Given the description of an element on the screen output the (x, y) to click on. 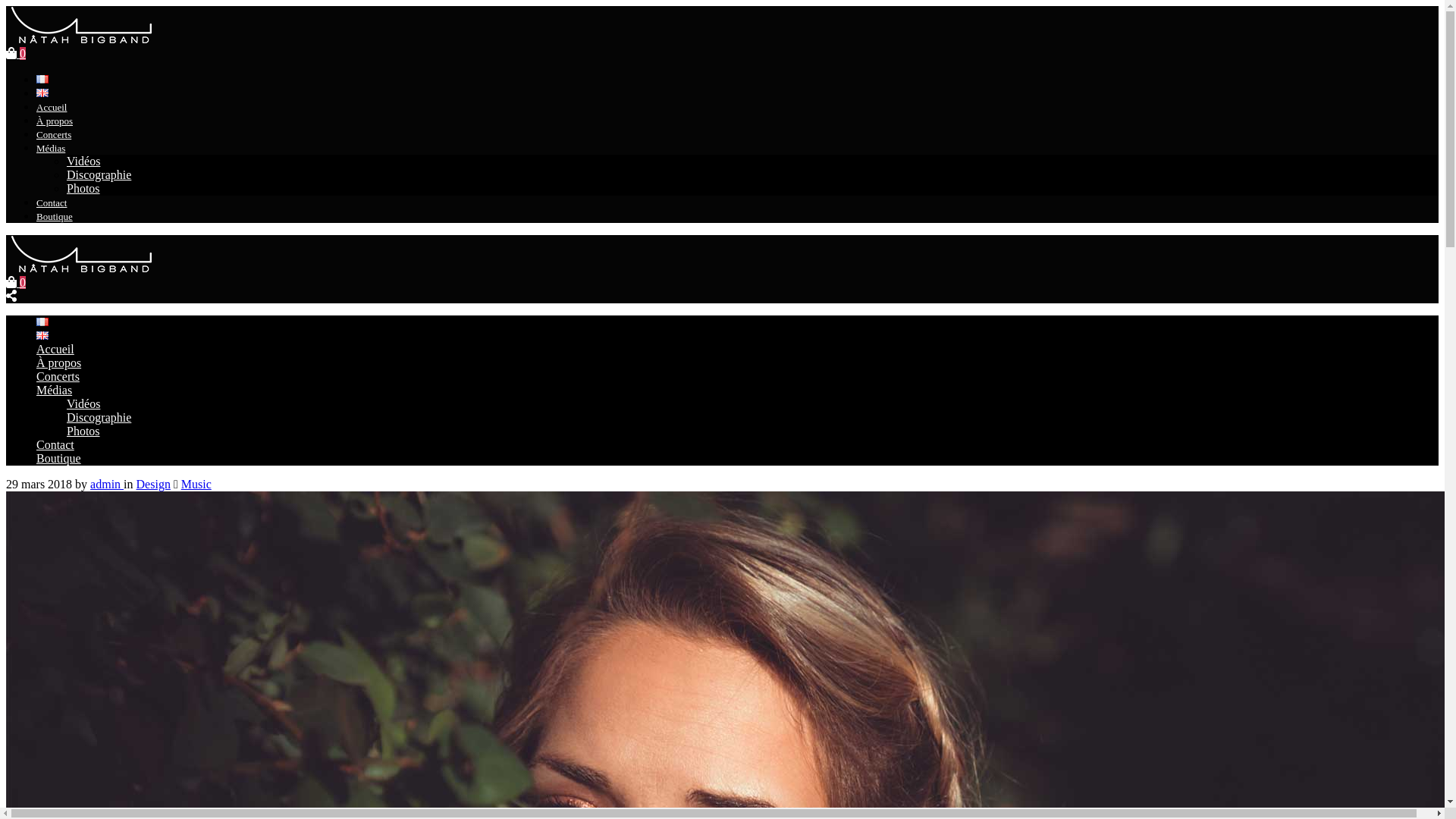
0 Element type: text (15, 282)
Discographie Element type: text (98, 174)
Boutique Element type: text (58, 457)
Accueil Element type: text (51, 106)
Design Element type: text (153, 483)
Music Element type: text (196, 483)
Boutique Element type: text (54, 216)
Concerts Element type: text (53, 134)
0 Element type: text (15, 53)
Photos Element type: text (83, 430)
Contact Element type: text (51, 202)
Accueil Element type: text (55, 348)
Discographie Element type: text (98, 417)
Contact Element type: text (55, 444)
Concerts Element type: text (57, 376)
Photos Element type: text (83, 188)
admin Element type: text (106, 483)
